Given the description of an element on the screen output the (x, y) to click on. 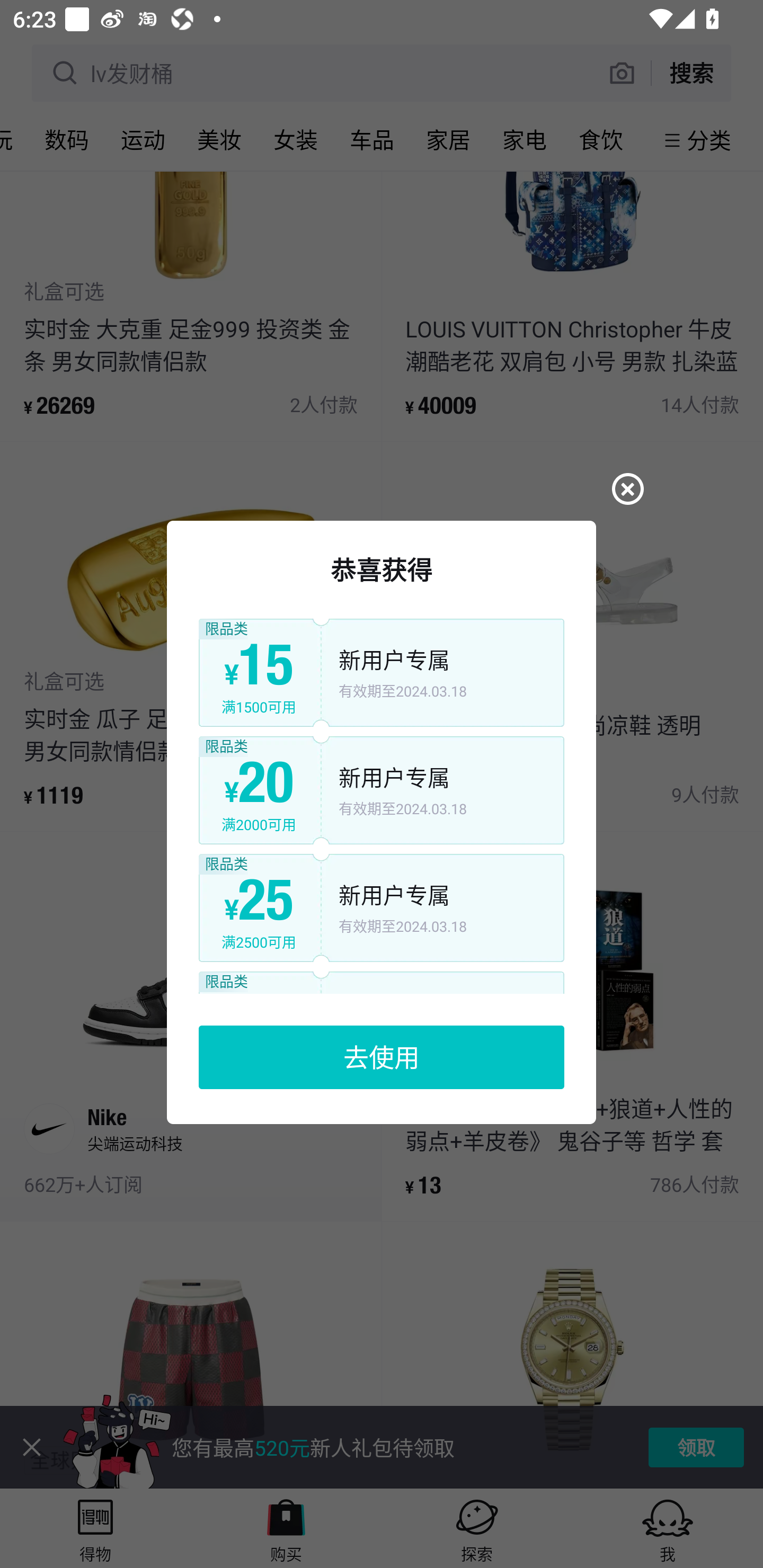
限品类 ¥15 新用户专属 满1500可用 有效期至2024.03.18 (381, 673)
限品类 ¥20 新用户专属 满2000可用 有效期至2024.03.18 (381, 790)
限品类 ¥25 新用户专属 满2500可用 有效期至2024.03.18 (381, 908)
限品类 ¥25 (381, 983)
去使用 (381, 1057)
